Given the description of an element on the screen output the (x, y) to click on. 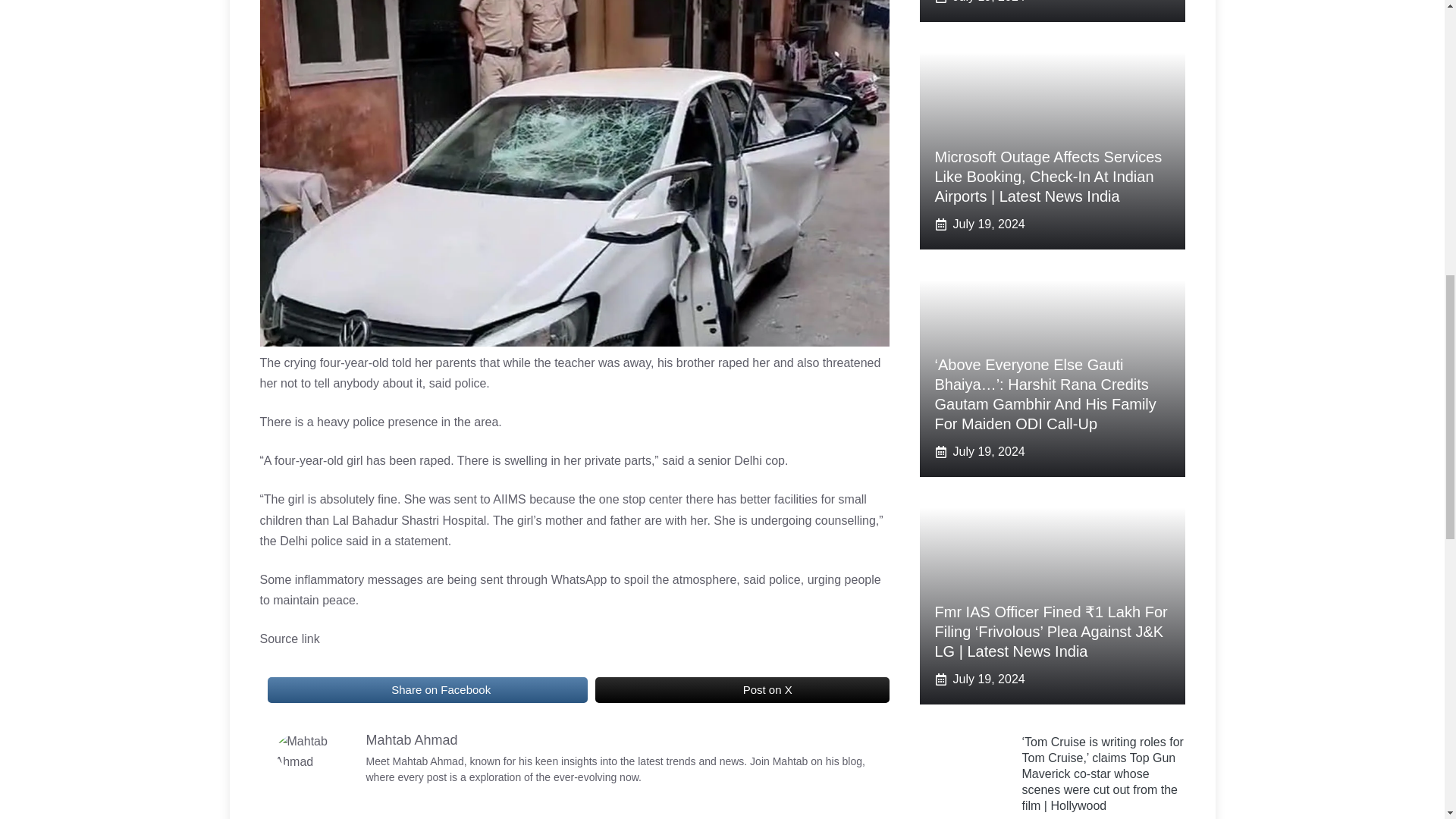
Post on X (742, 689)
4-Year-Old Raped In Delhi, Protest Outside Home Of Accused (714, 689)
Mahtab Ahmad (411, 739)
4-Year-Old Raped In Delhi, Protest Outside Home Of Accused (374, 689)
Source link (288, 638)
4-Year-Old Raped In Delhi, Protest Outside Home Of Accused (312, 751)
Share on Facebook (426, 689)
